Given the description of an element on the screen output the (x, y) to click on. 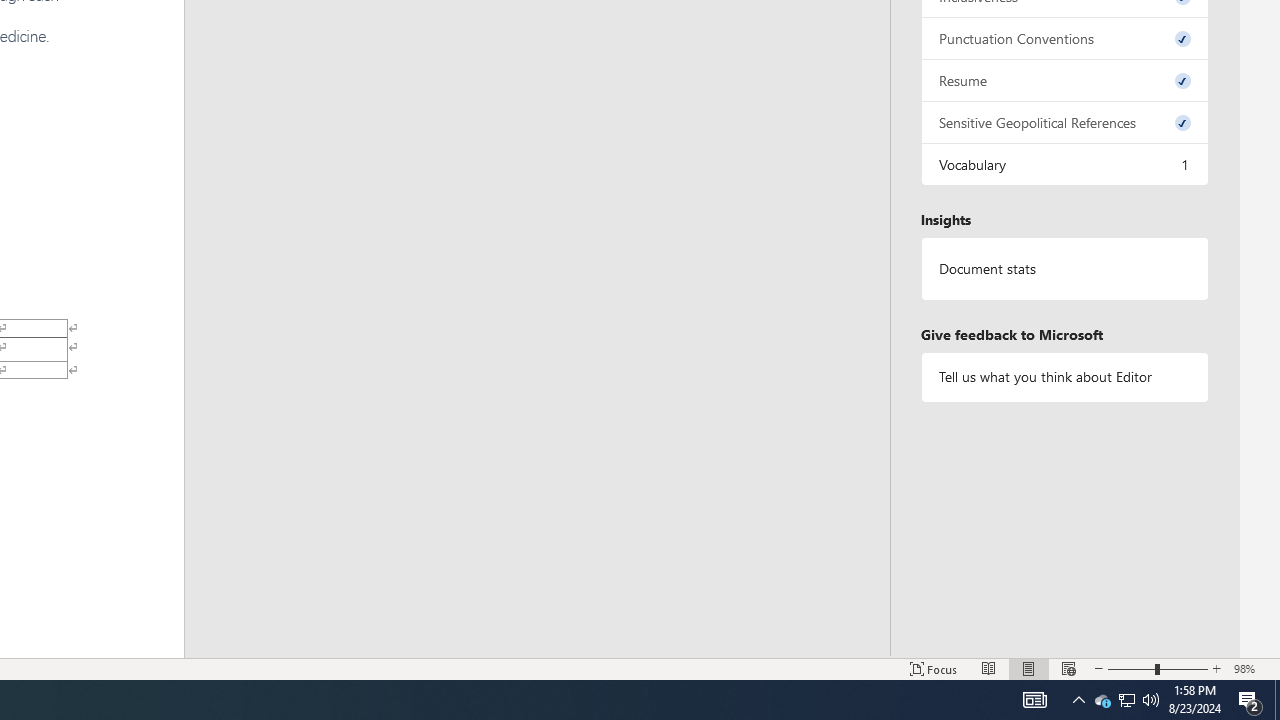
Zoom (1158, 668)
Document statistics (1064, 269)
Resume, 0 issues. Press space or enter to review items. (1064, 79)
Tell us what you think about Editor (1064, 376)
Vocabulary, 1 issue. Press space or enter to review items. (1064, 164)
